Given the description of an element on the screen output the (x, y) to click on. 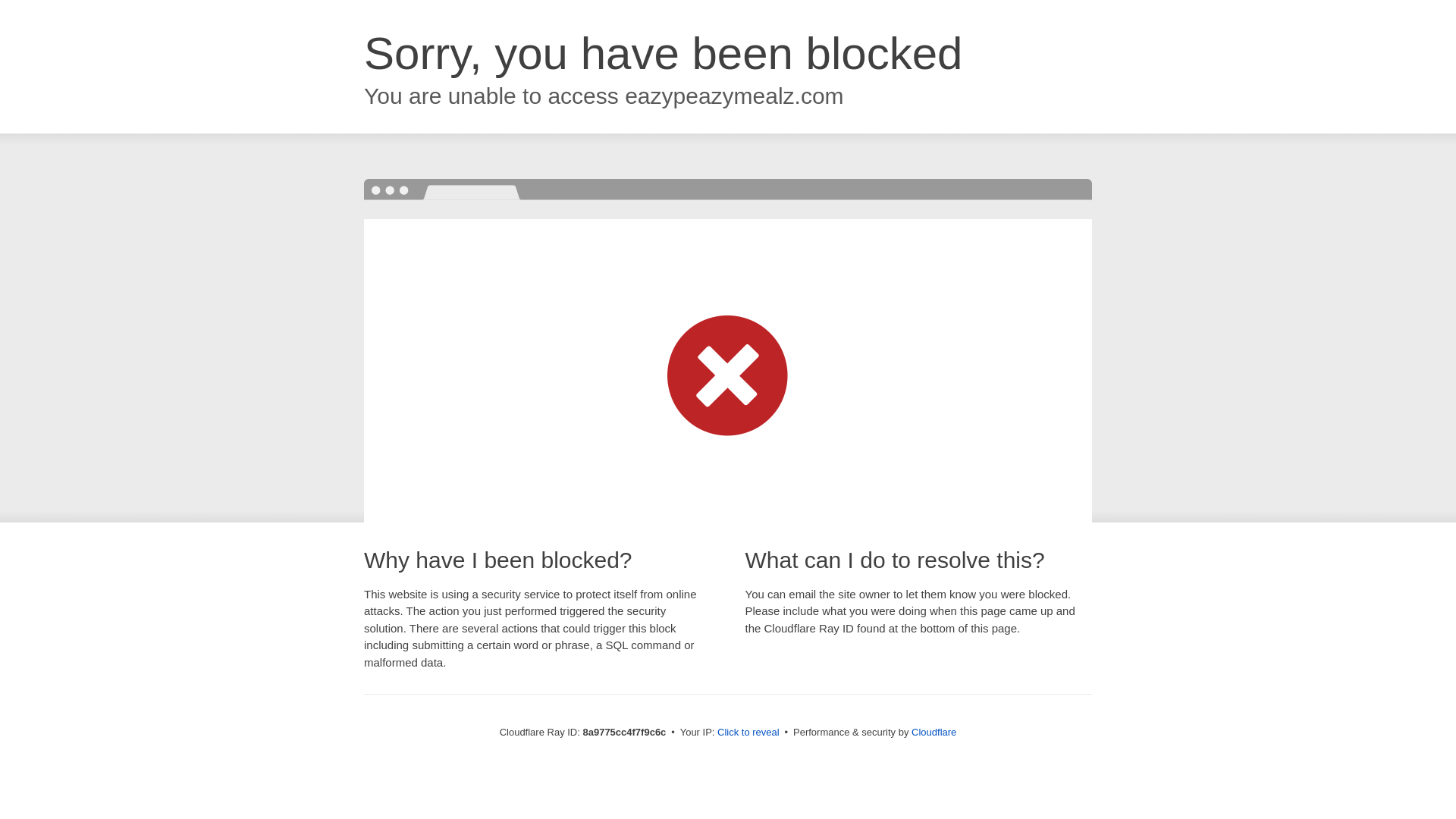
Cloudflare (933, 731)
Click to reveal (747, 732)
